Given the description of an element on the screen output the (x, y) to click on. 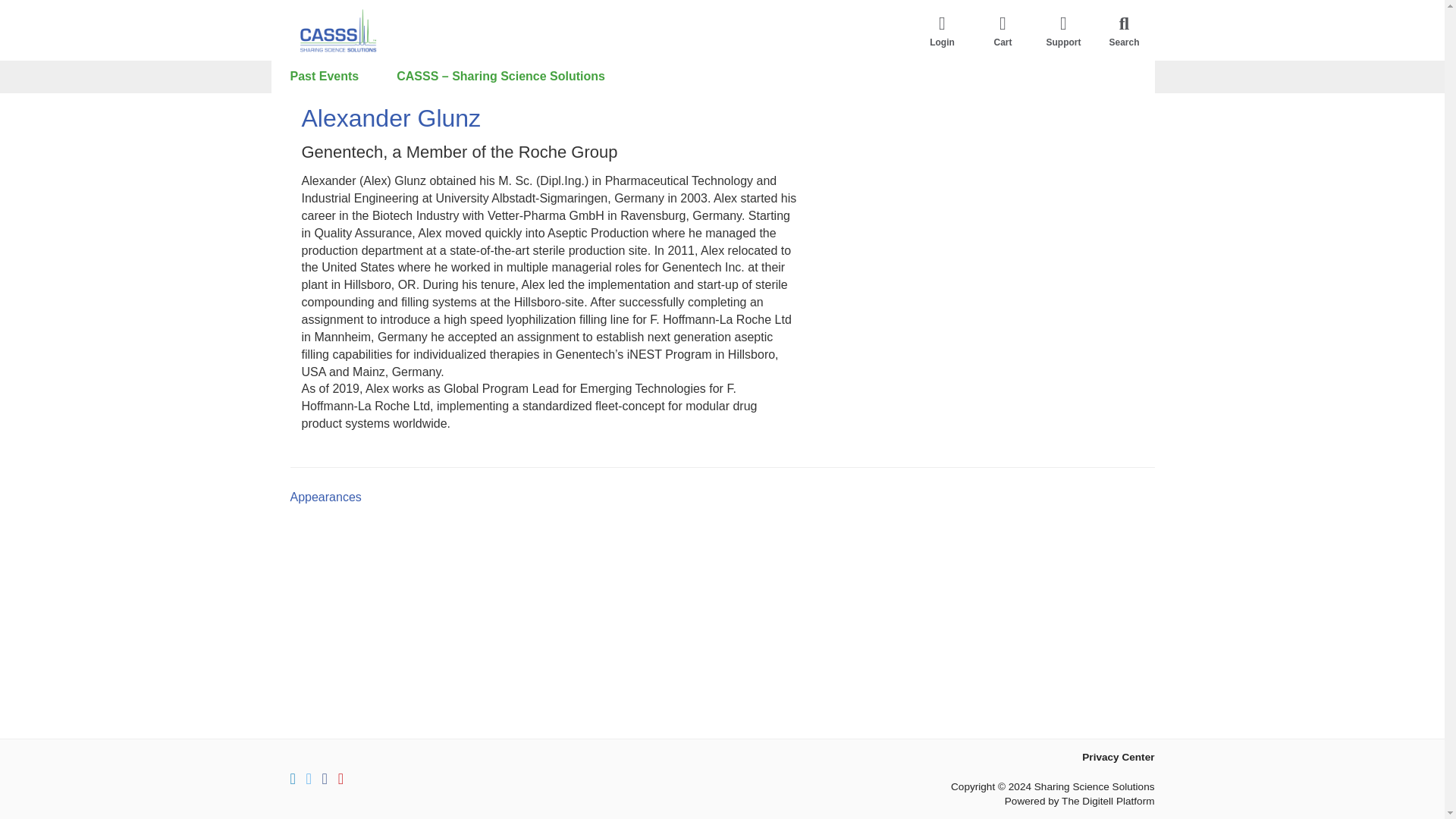
Cart (1002, 30)
Search (1123, 30)
Support (1062, 30)
Privacy Center (1117, 756)
Login (941, 30)
Login (941, 30)
Cart (1002, 30)
Past Events (324, 76)
Support (1062, 30)
Search (1123, 30)
